Given the description of an element on the screen output the (x, y) to click on. 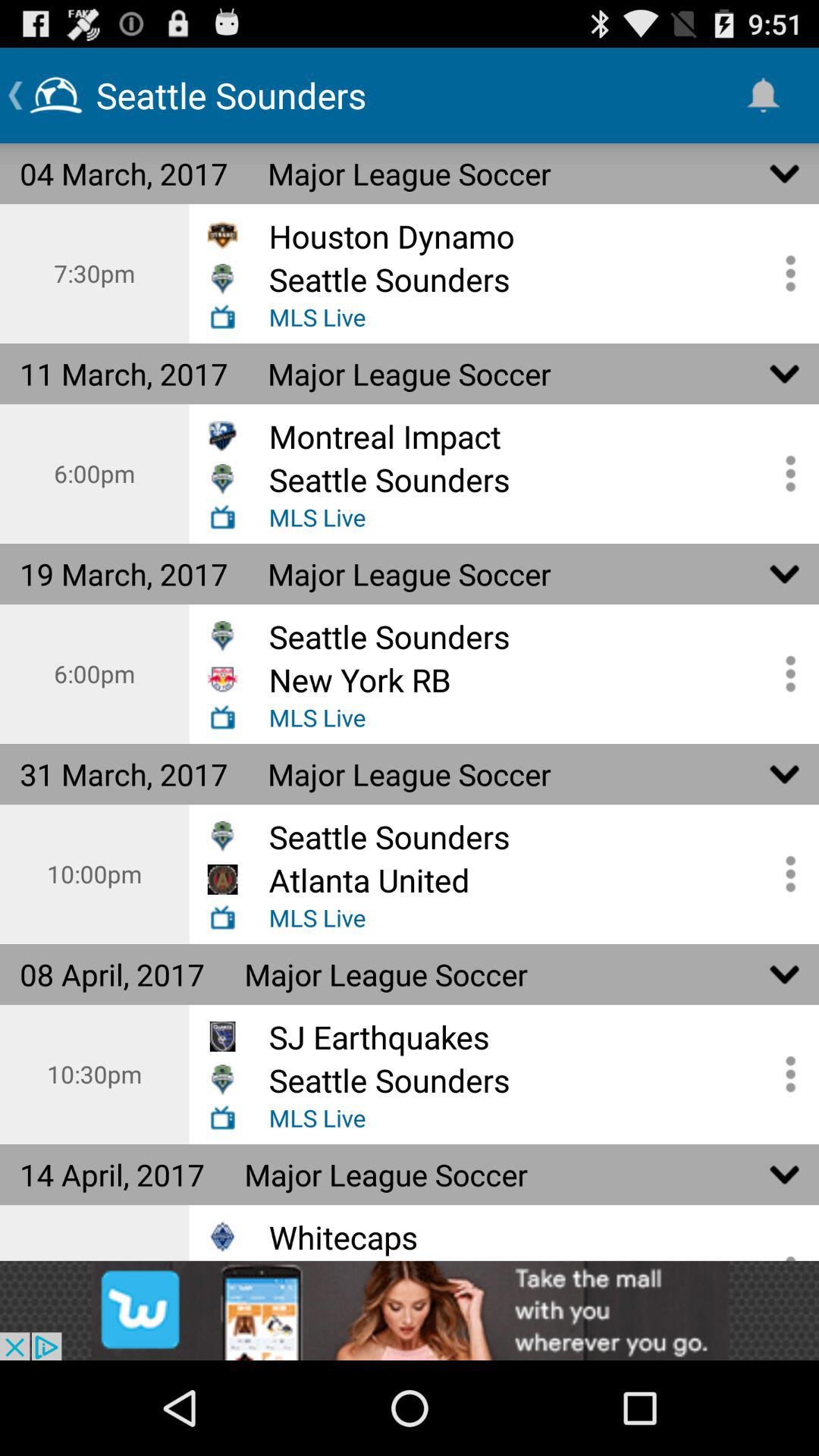
see advertisement (409, 1310)
